Given the description of an element on the screen output the (x, y) to click on. 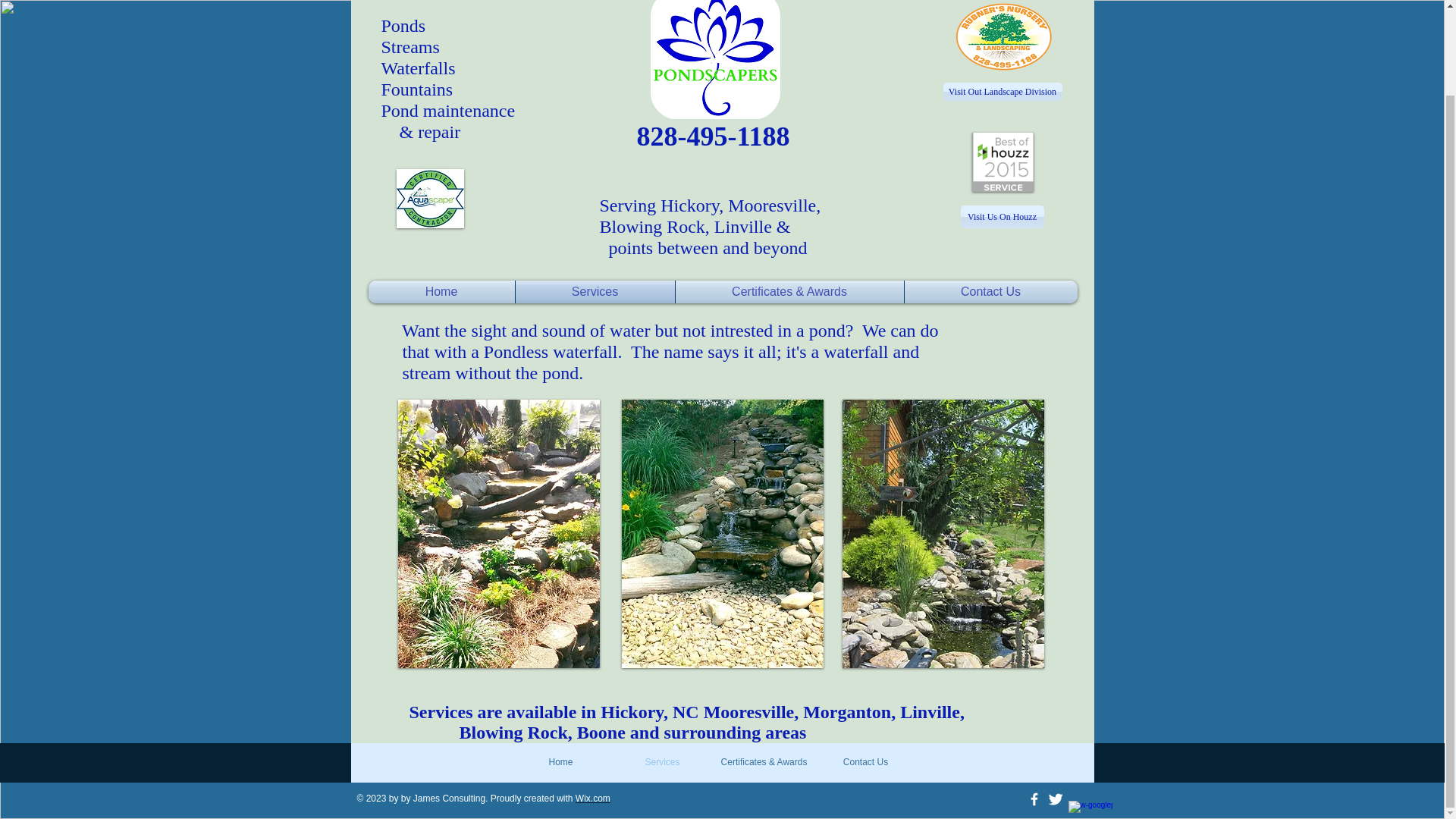
Home (441, 291)
pondscapers1b.png (715, 59)
Home (560, 762)
Services (595, 291)
Contact Us (990, 291)
Wix.com (592, 798)
Contact Us (864, 762)
Services (662, 762)
Visit Us On Houzz (1001, 216)
Visit Out Landscape Division (1002, 91)
